Given the description of an element on the screen output the (x, y) to click on. 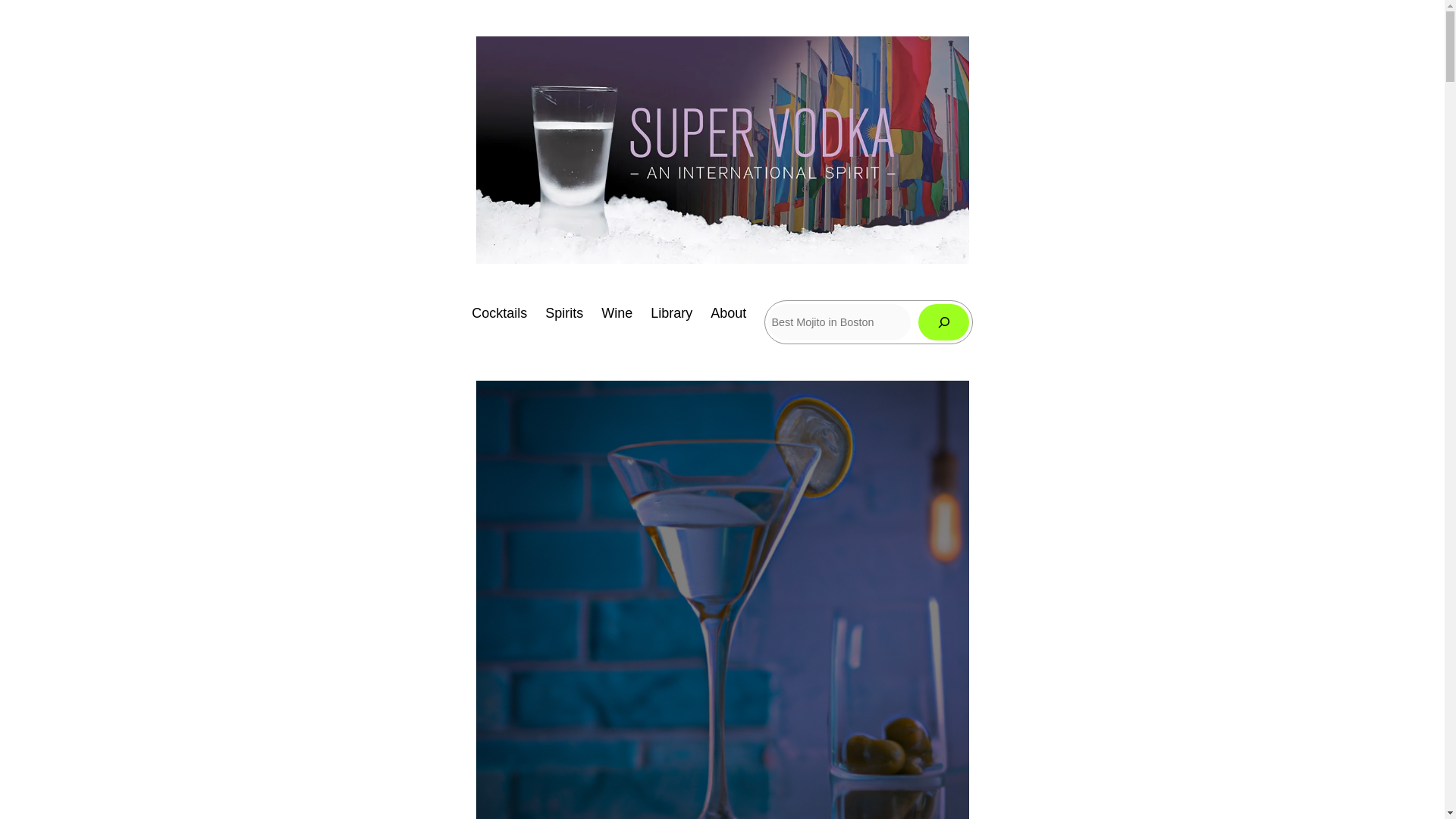
Library (671, 313)
Spirits (563, 313)
Wine (616, 313)
Shake Up Your Knowledge with Our Cocktails Section! (499, 313)
About (727, 313)
Cocktails (499, 313)
